Given the description of an element on the screen output the (x, y) to click on. 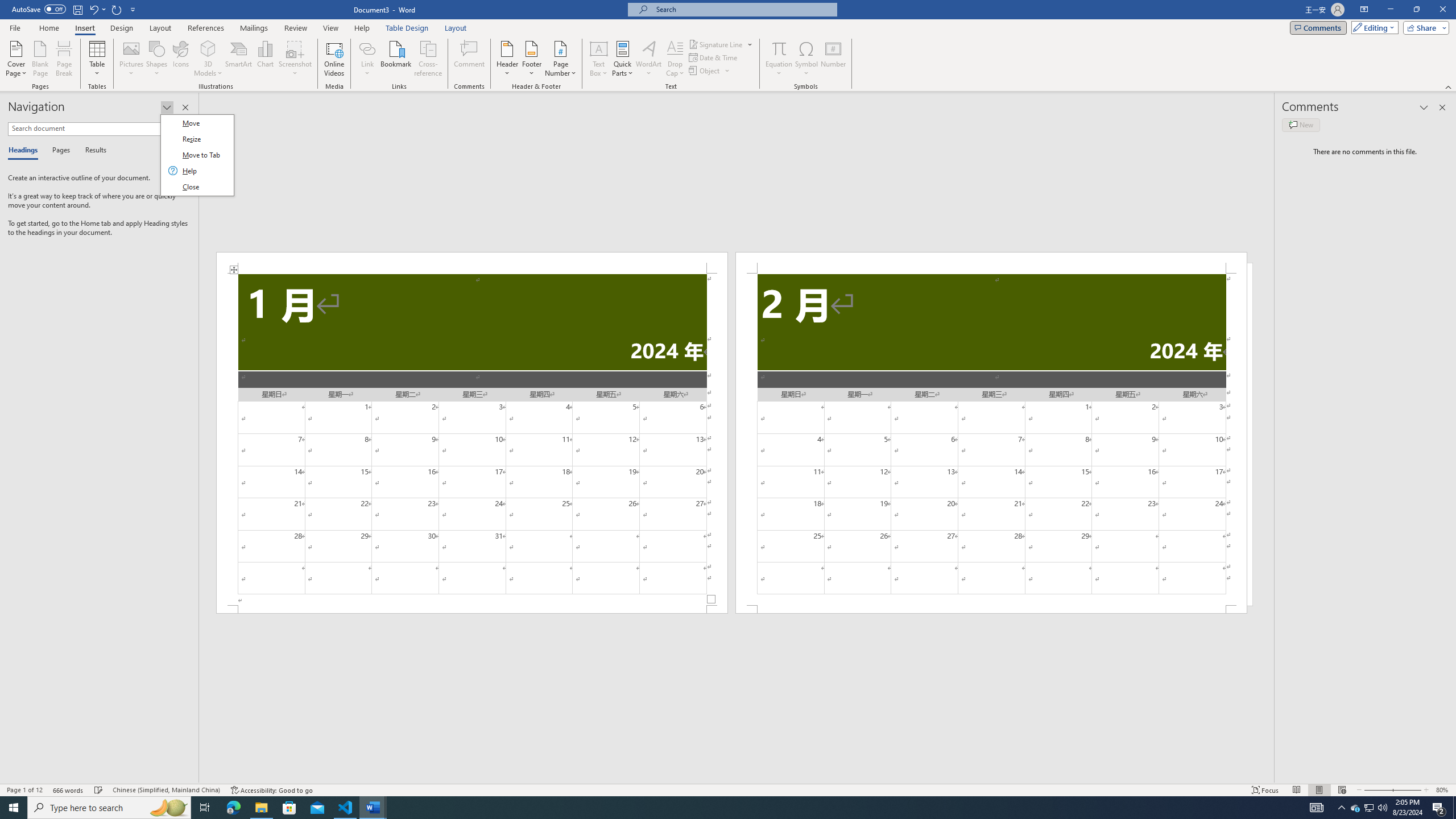
Type here to search (108, 807)
Bookmark... (396, 58)
Visual Studio Code - 1 running window (345, 807)
3D Models (1368, 807)
Start (208, 48)
Cross-reference... (13, 807)
Show desktop (428, 58)
AutomationID: 4105 (1454, 807)
Results (1316, 807)
